Given the description of an element on the screen output the (x, y) to click on. 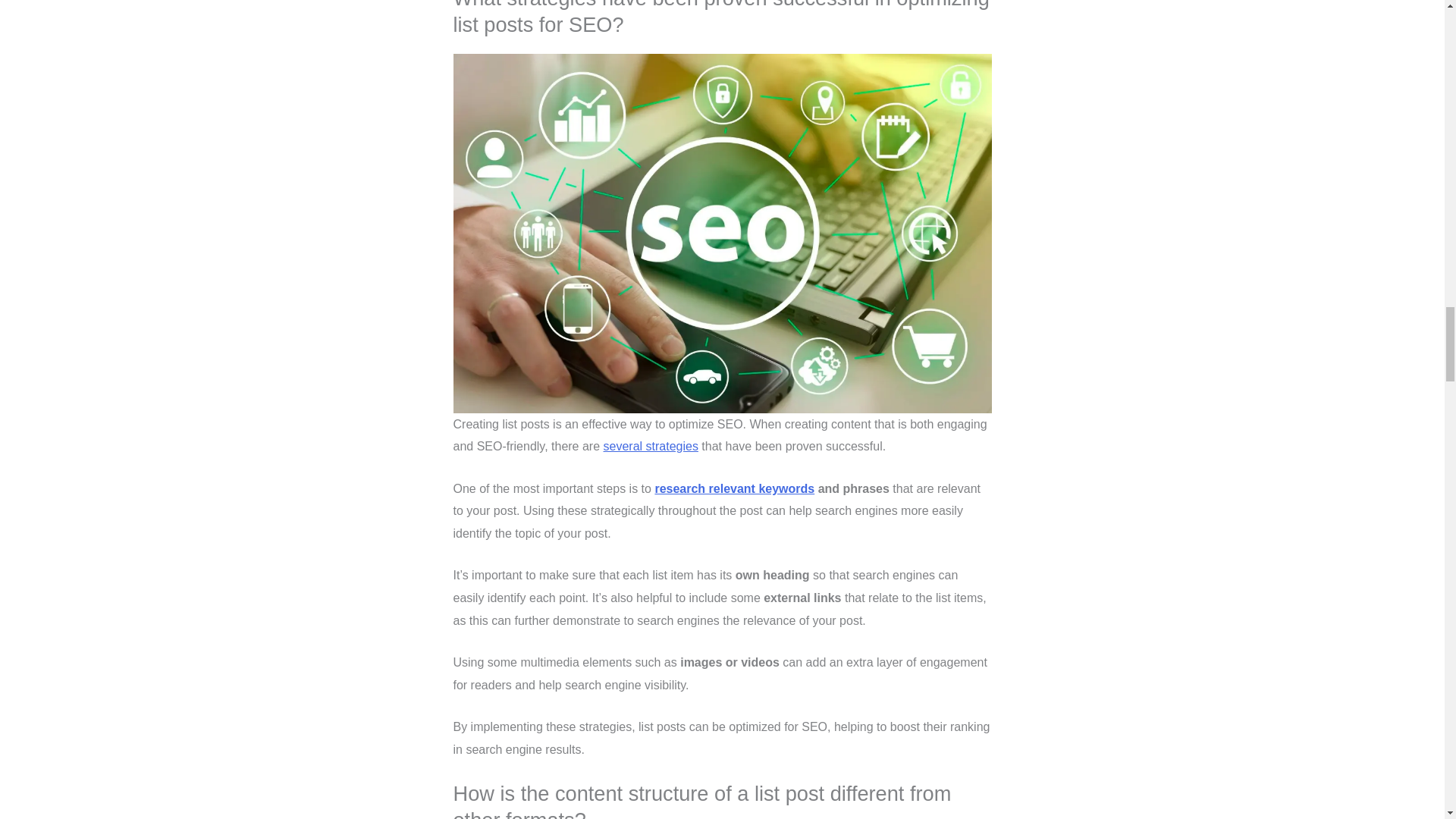
several strategies (651, 445)
The Essential Guide To Keyword Research For Beginners (733, 488)
research relevant keywords (733, 488)
